Given the description of an element on the screen output the (x, y) to click on. 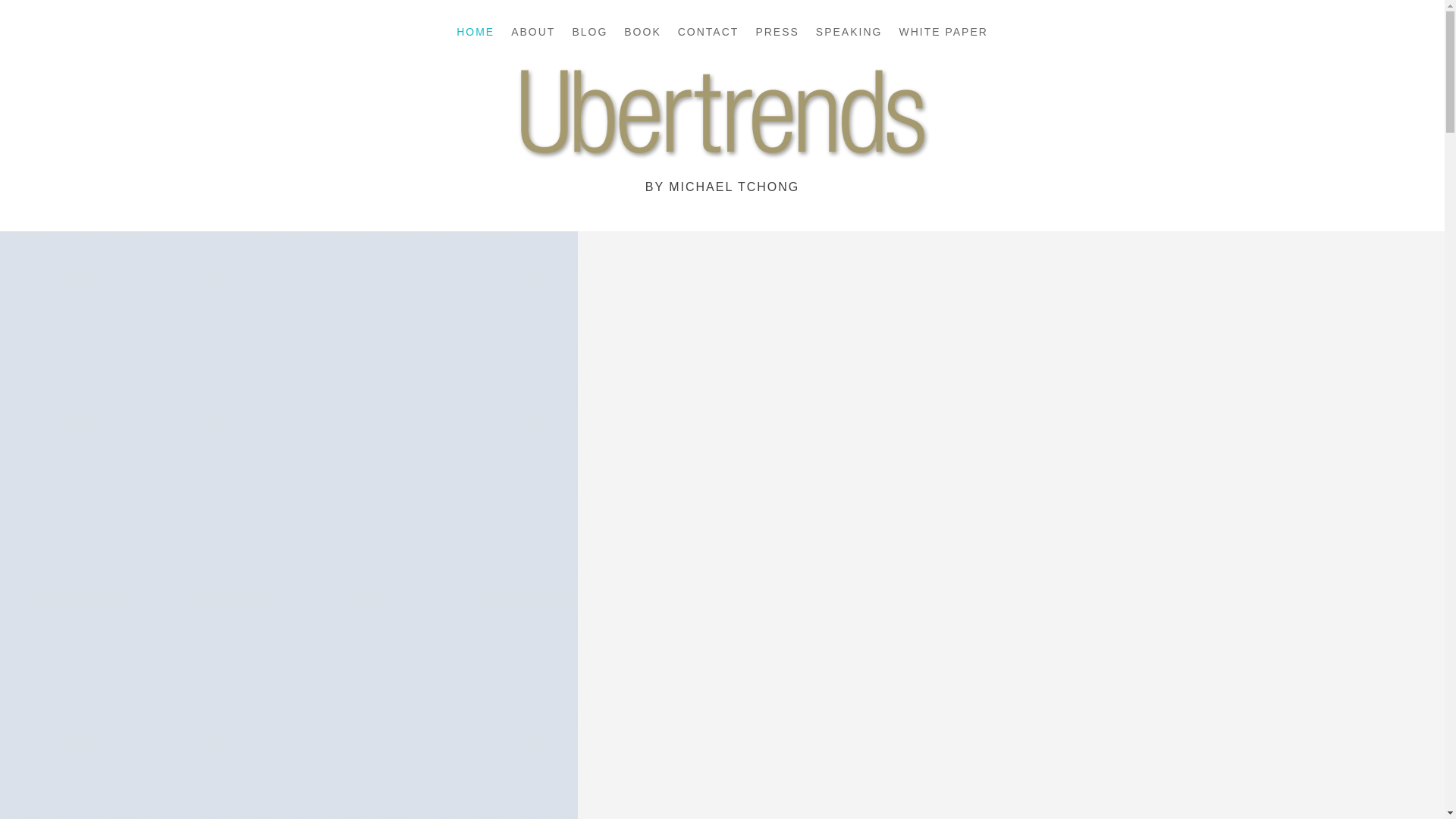
ABOUT (532, 34)
Ubertrends logo (722, 118)
BOOK (642, 34)
WHITE PAPER (942, 34)
SPEAKING (848, 34)
HOME (476, 34)
BLOG (589, 34)
CONTACT (708, 34)
PRESS (776, 34)
